Given the description of an element on the screen output the (x, y) to click on. 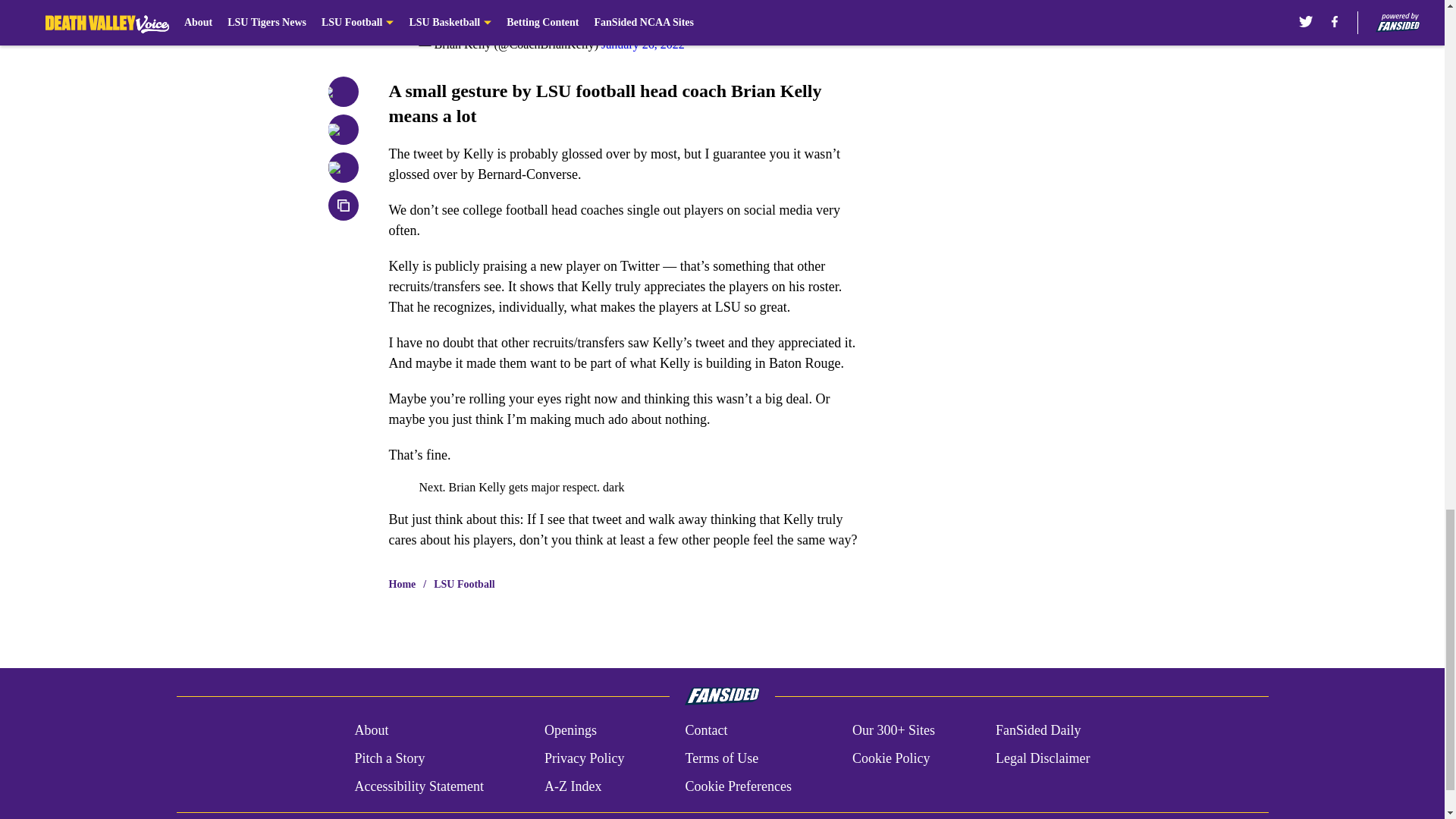
Pitch a Story (389, 758)
Accessibility Statement (418, 786)
January 26, 2022 (642, 43)
Privacy Policy (584, 758)
Cookie Policy (890, 758)
About (370, 730)
A-Z Index (572, 786)
FanSided Daily (1038, 730)
Contact (705, 730)
Legal Disclaimer (1042, 758)
